Given the description of an element on the screen output the (x, y) to click on. 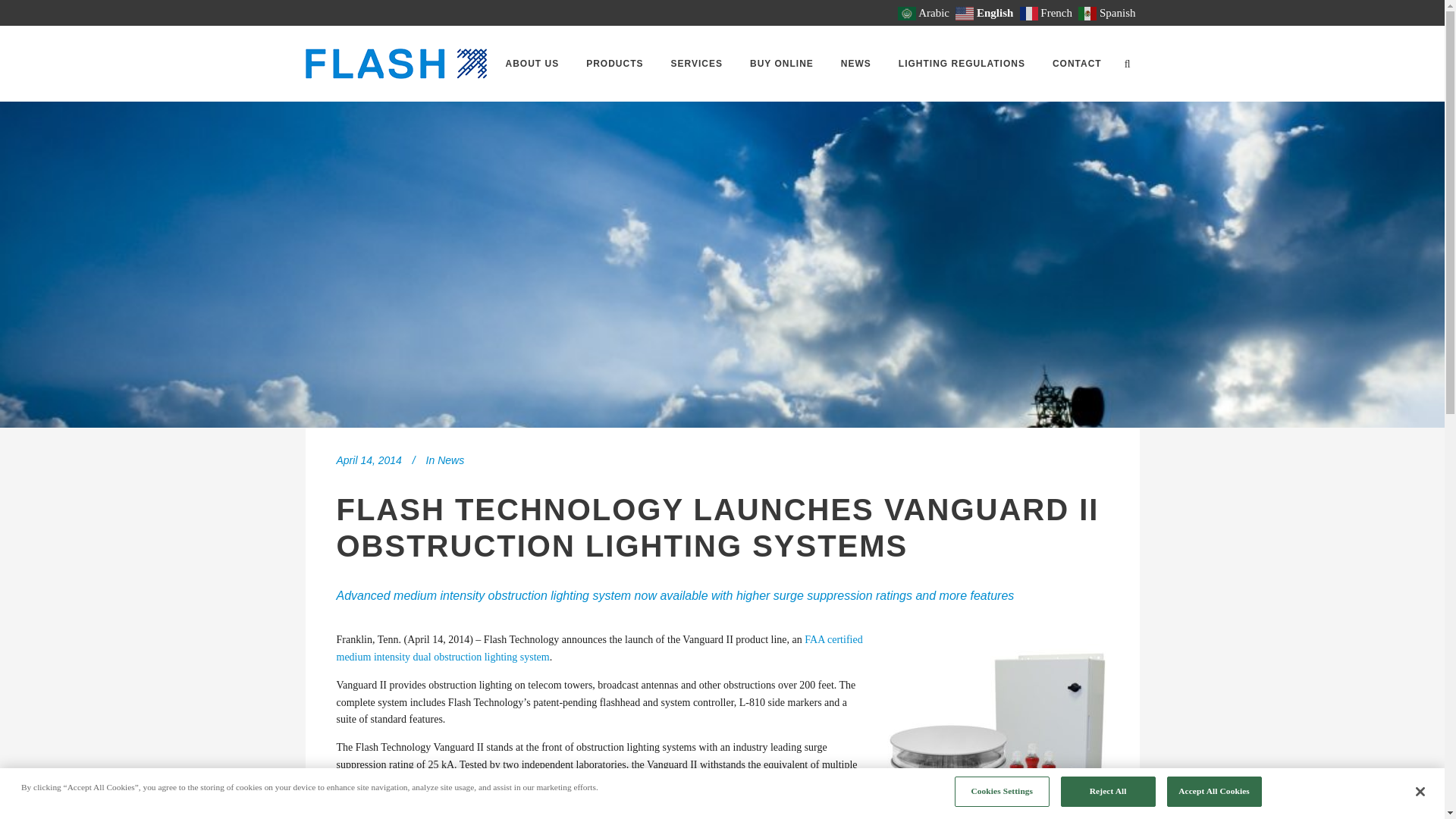
Products (614, 63)
ABOUT US (532, 63)
SERVICES (697, 63)
PRODUCTS (614, 63)
English (985, 12)
French (1047, 12)
Spanish (1108, 12)
Arabic (925, 12)
About Us (532, 63)
